Given the description of an element on the screen output the (x, y) to click on. 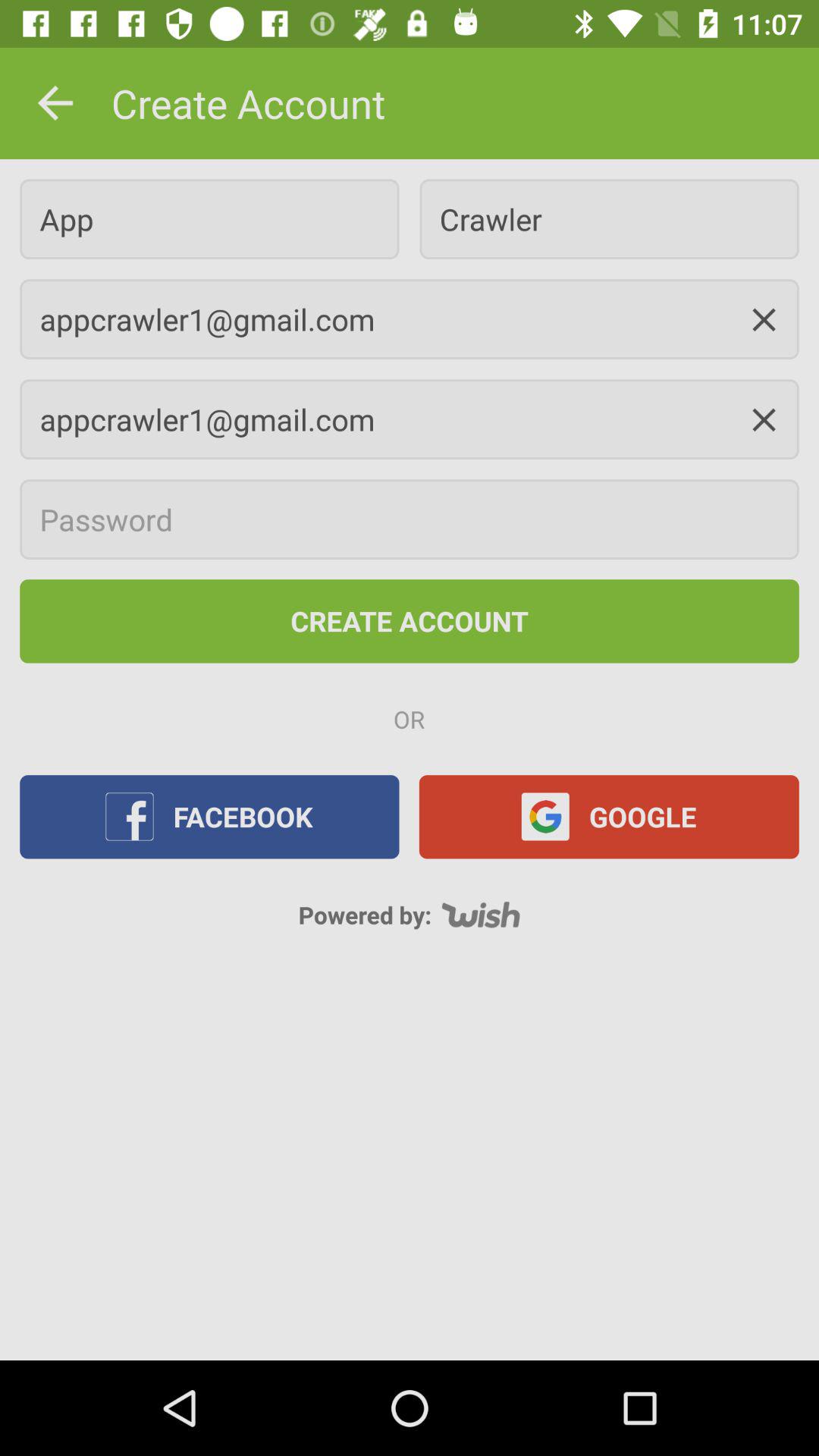
press the item to the left of create account icon (55, 103)
